Given the description of an element on the screen output the (x, y) to click on. 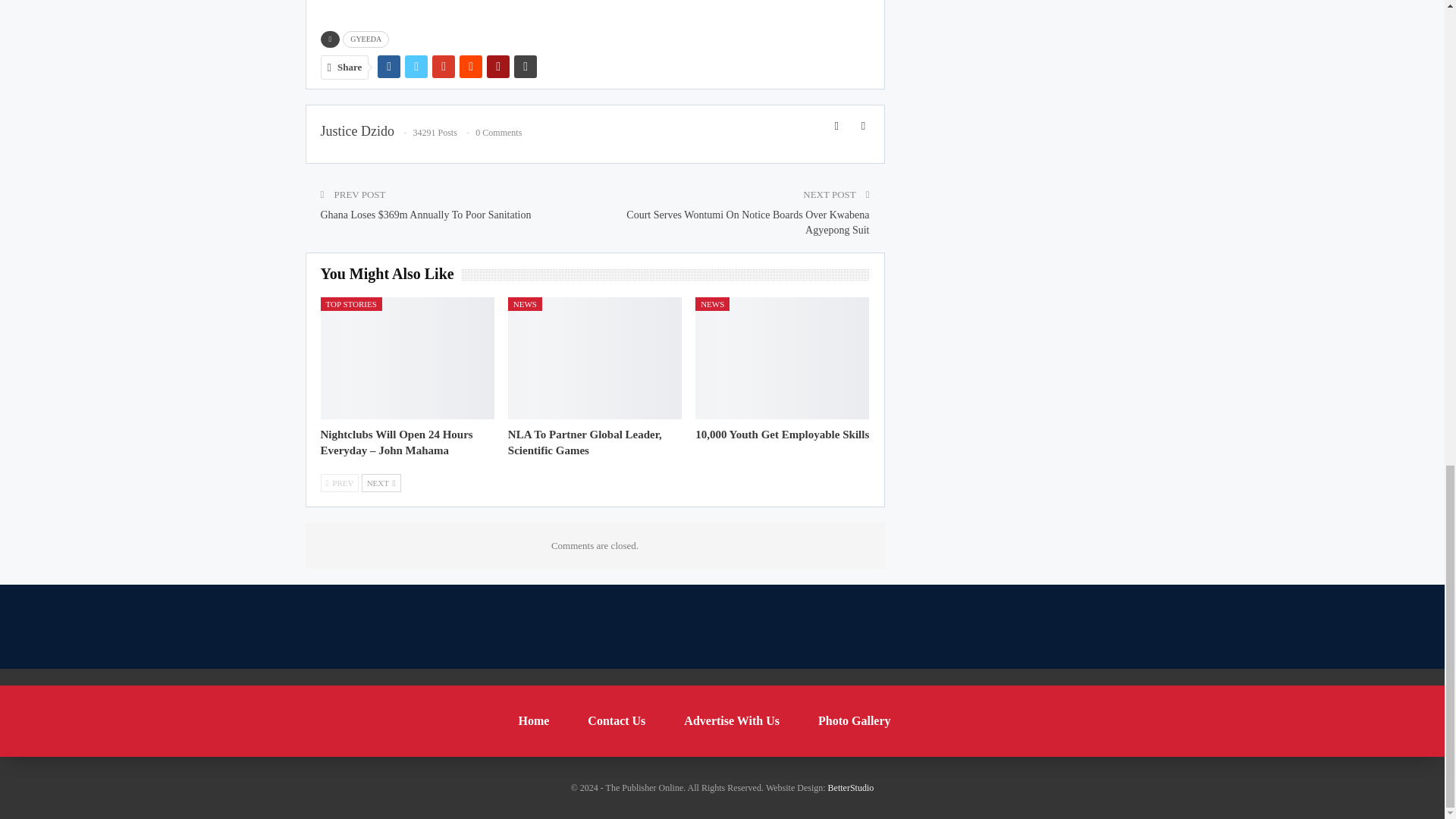
10,000 Youth Get Employable Skills (782, 358)
NLA To Partner Global Leader, Scientific Games (594, 358)
10,000 Youth Get Employable Skills (782, 434)
Next (381, 483)
NLA To Partner Global Leader, Scientific Games (585, 442)
Previous (339, 483)
GYEEDA (365, 39)
